Given the description of an element on the screen output the (x, y) to click on. 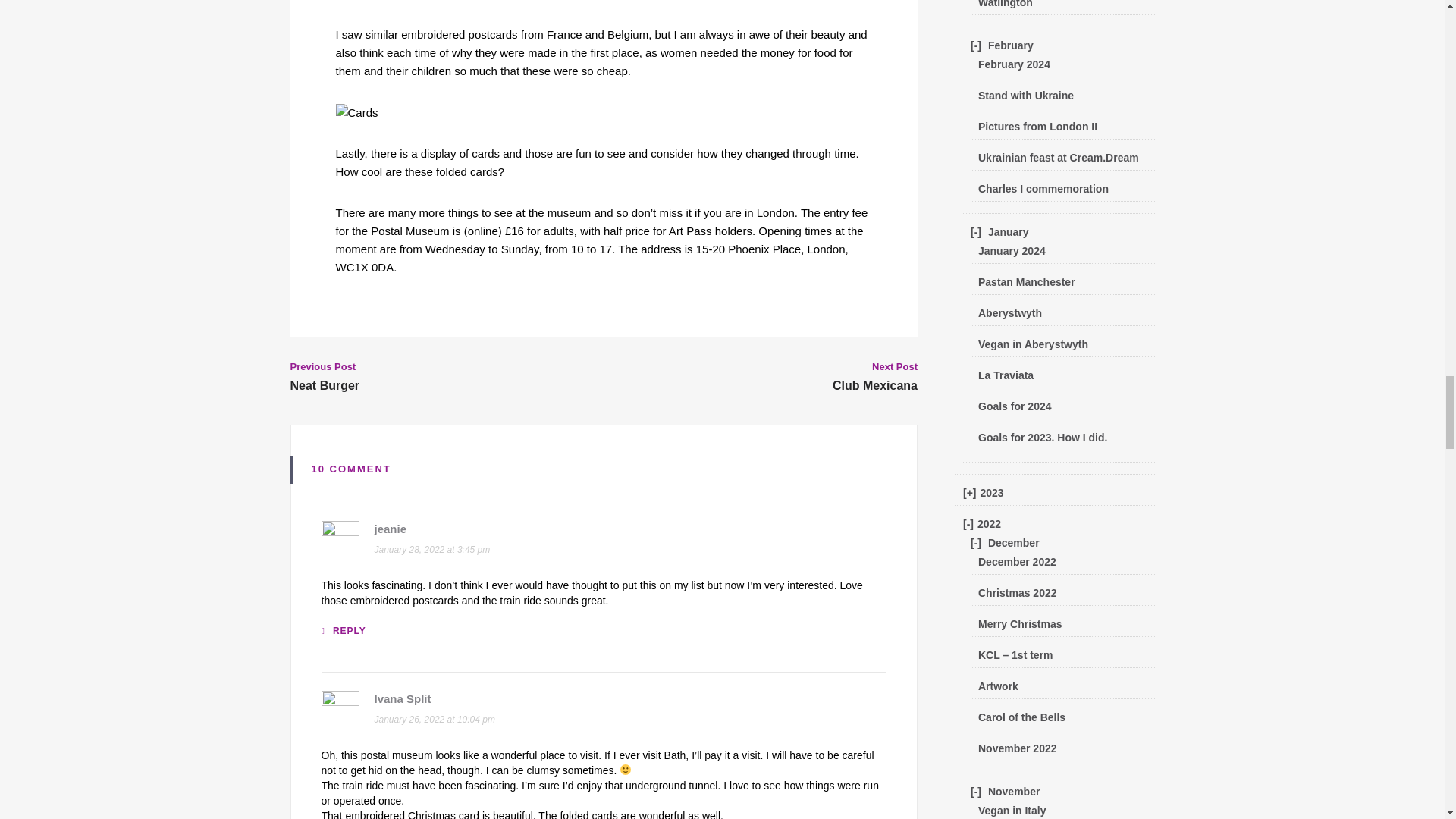
Ivana Split (402, 698)
January 26, 2022 at 10:04 pm (434, 719)
jeanie (390, 528)
January 28, 2022 at 3:45 pm (432, 549)
REPLY (343, 630)
